Given the description of an element on the screen output the (x, y) to click on. 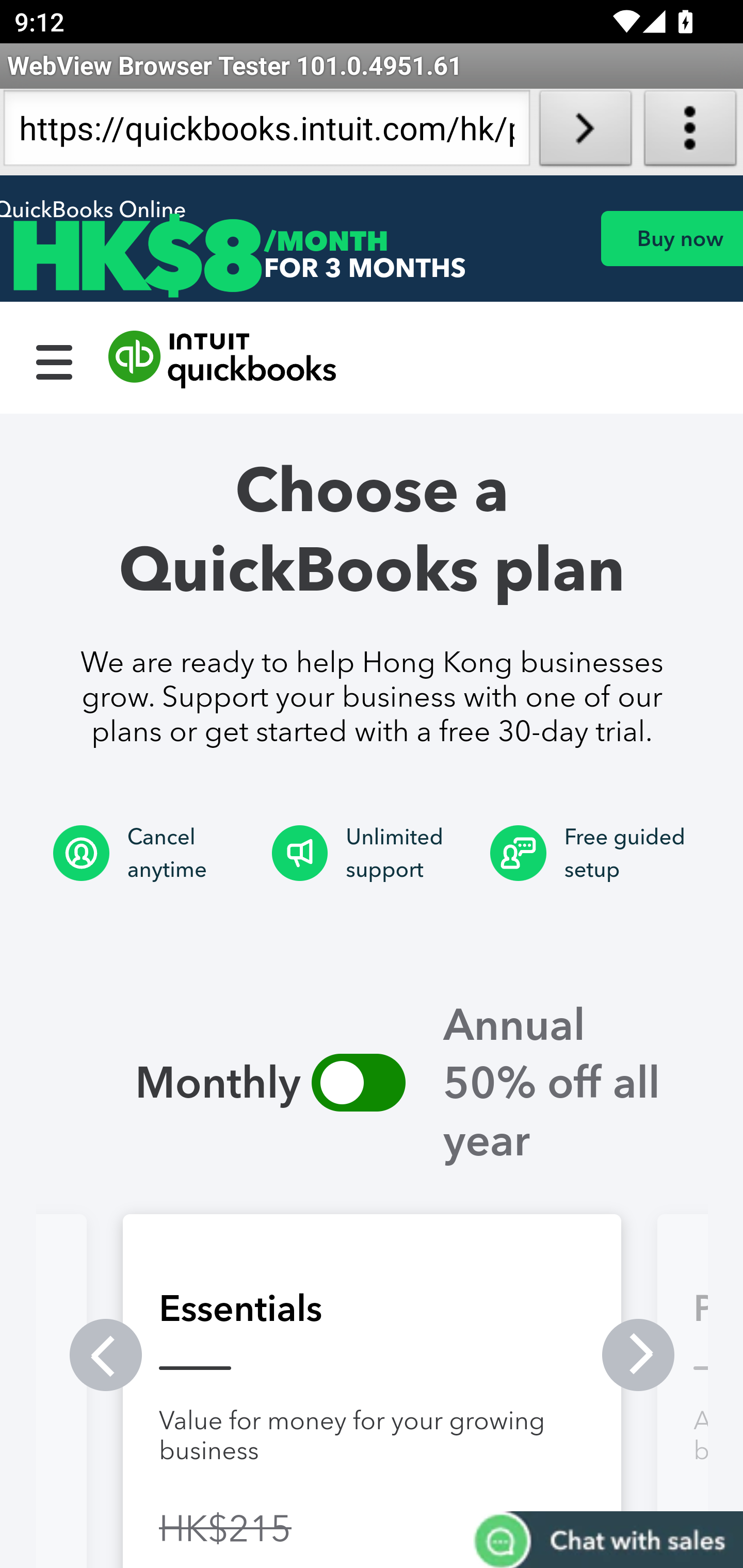
https://quickbooks.intuit.com/hk/pricing/ (266, 132)
Load URL (585, 132)
About WebView (690, 132)
Buy now (671, 238)
quickbooks-mobile-burger (54, 359)
quickbooks (222, 359)
Annual 50% off all year (570, 1081)
Monthly (174, 1082)
Monthly  (358, 1081)
